Given the description of an element on the screen output the (x, y) to click on. 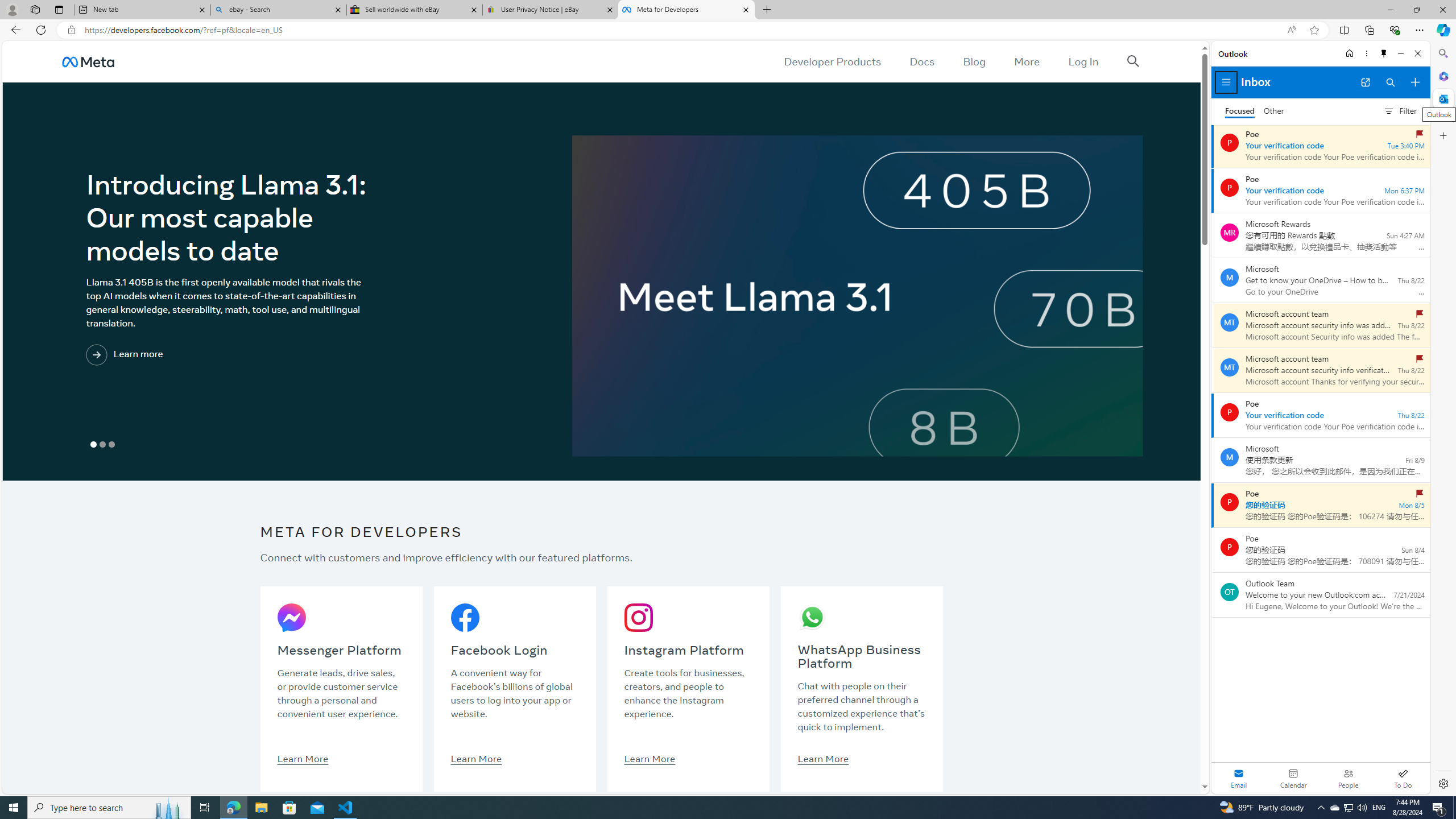
Calendar. Date today is 28 (1293, 777)
Customize (1442, 135)
More (1027, 61)
Other (1273, 110)
Unpin side pane (1383, 53)
ebay - Search (277, 9)
AutomationID: u_0_25_3H (88, 61)
People (1347, 777)
Blog (974, 61)
Selected mail module (1238, 777)
Docs (922, 61)
